Given the description of an element on the screen output the (x, y) to click on. 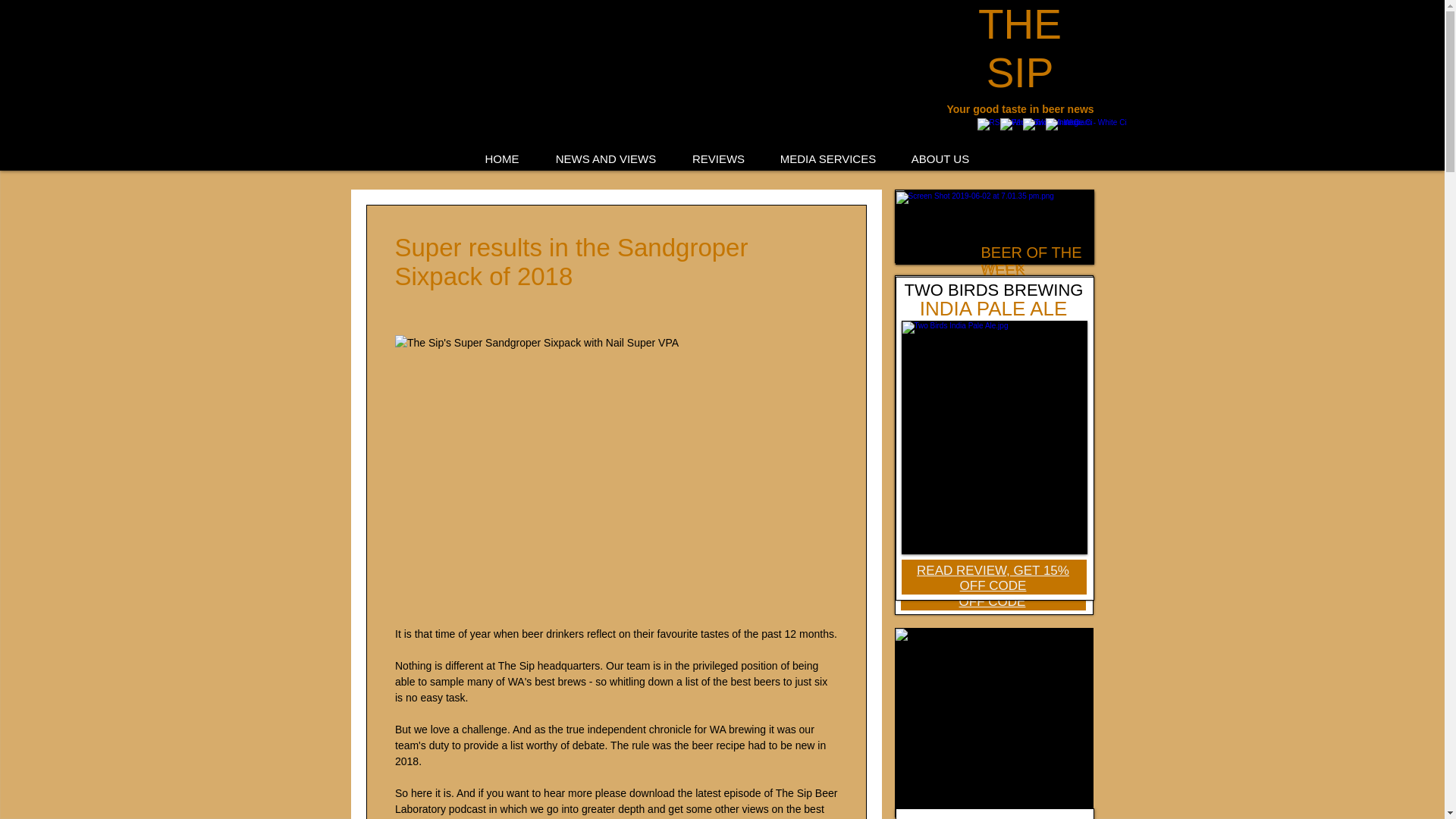
NEWS AND VIEWS (605, 159)
ABOUT US (940, 159)
THE SIP BEER MAIL (975, 816)
MEDIA SERVICES (827, 159)
HOME (502, 159)
REVIEWS (718, 159)
